Given the description of an element on the screen output the (x, y) to click on. 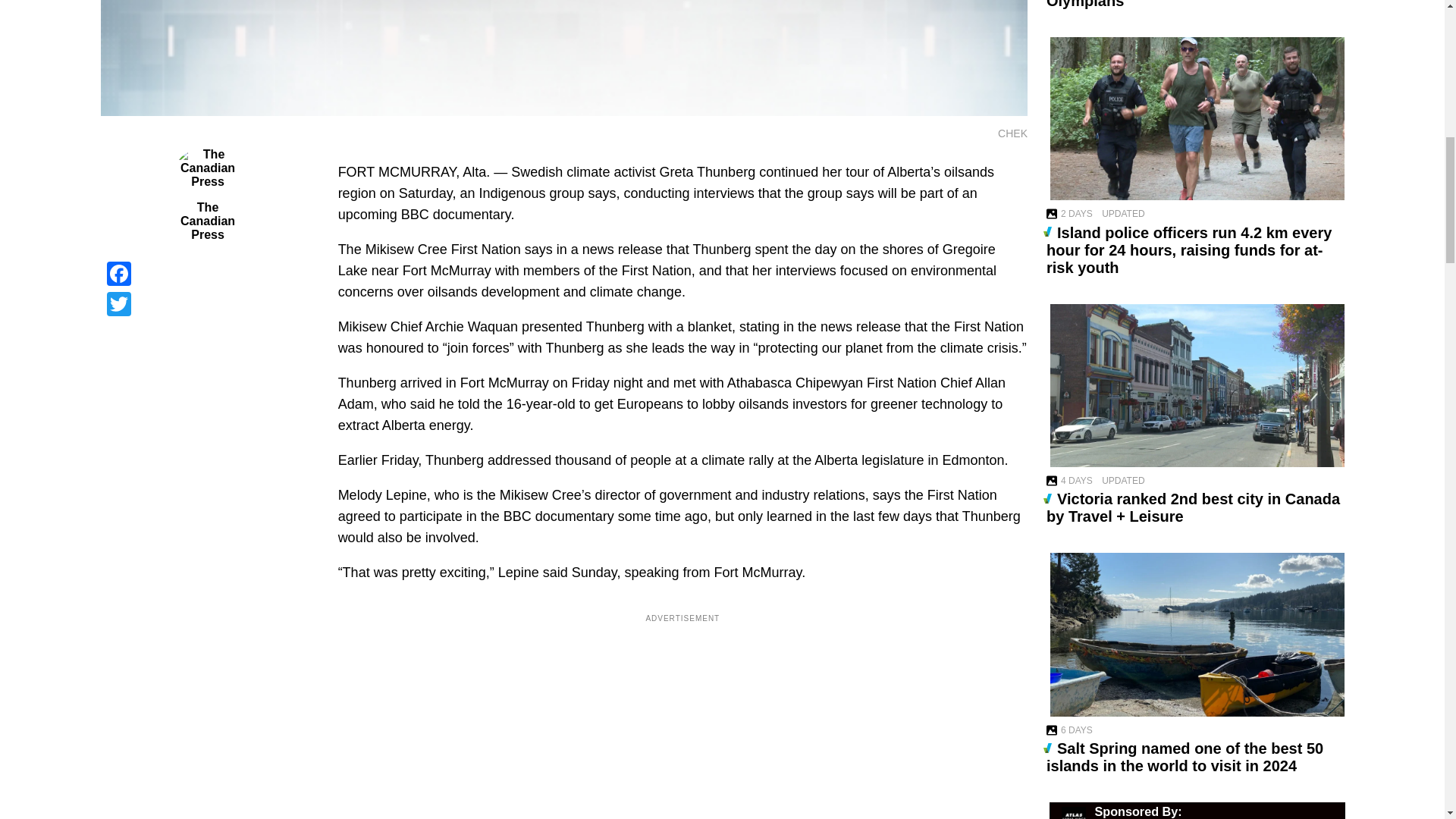
3rd party ad content (682, 728)
Facebook (207, 273)
Twitter (207, 304)
